Given the description of an element on the screen output the (x, y) to click on. 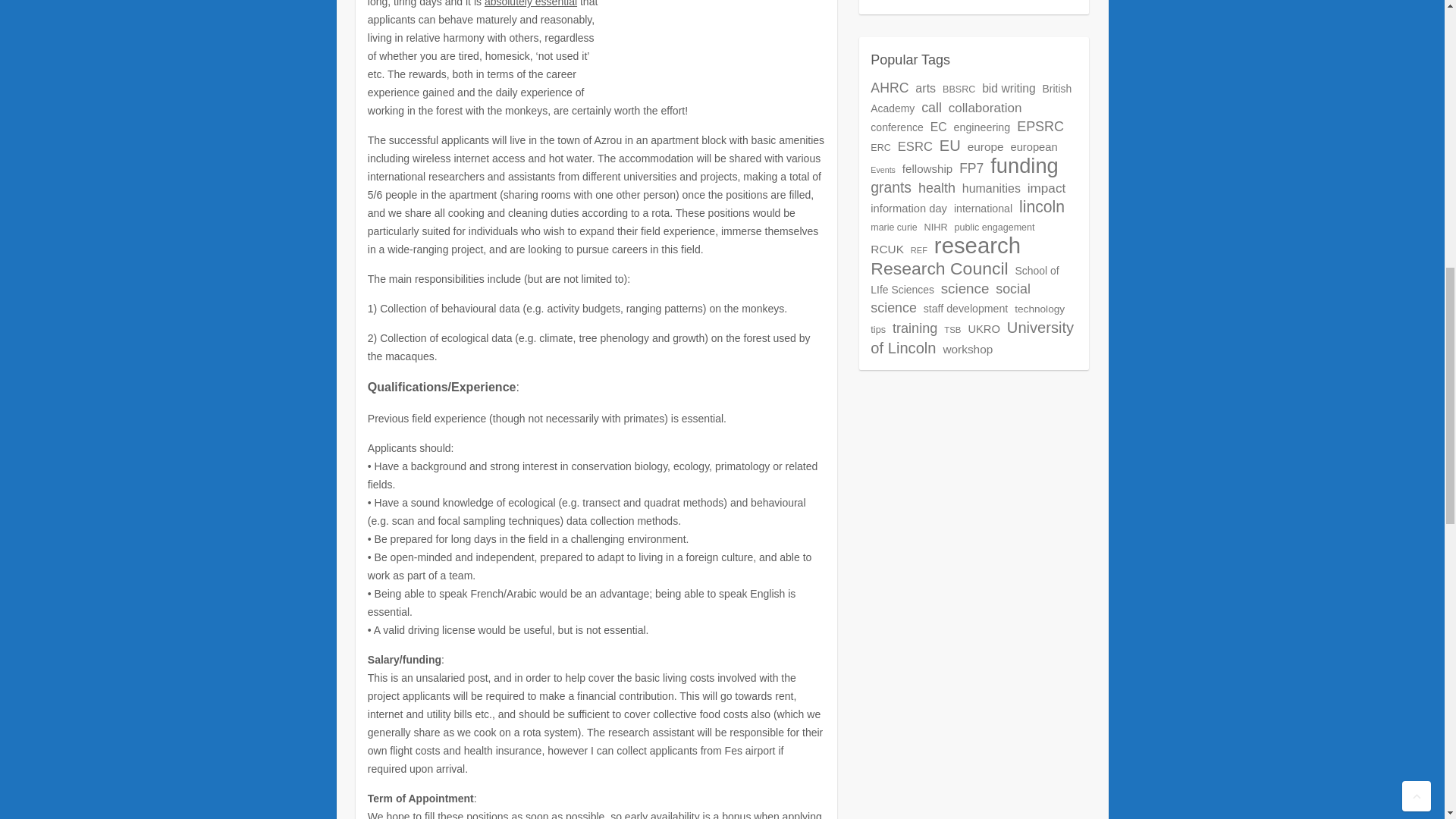
BBSRC (958, 89)
AHRC (889, 87)
bid writing (1008, 88)
British Academy (970, 98)
collaboration (985, 107)
